Given the description of an element on the screen output the (x, y) to click on. 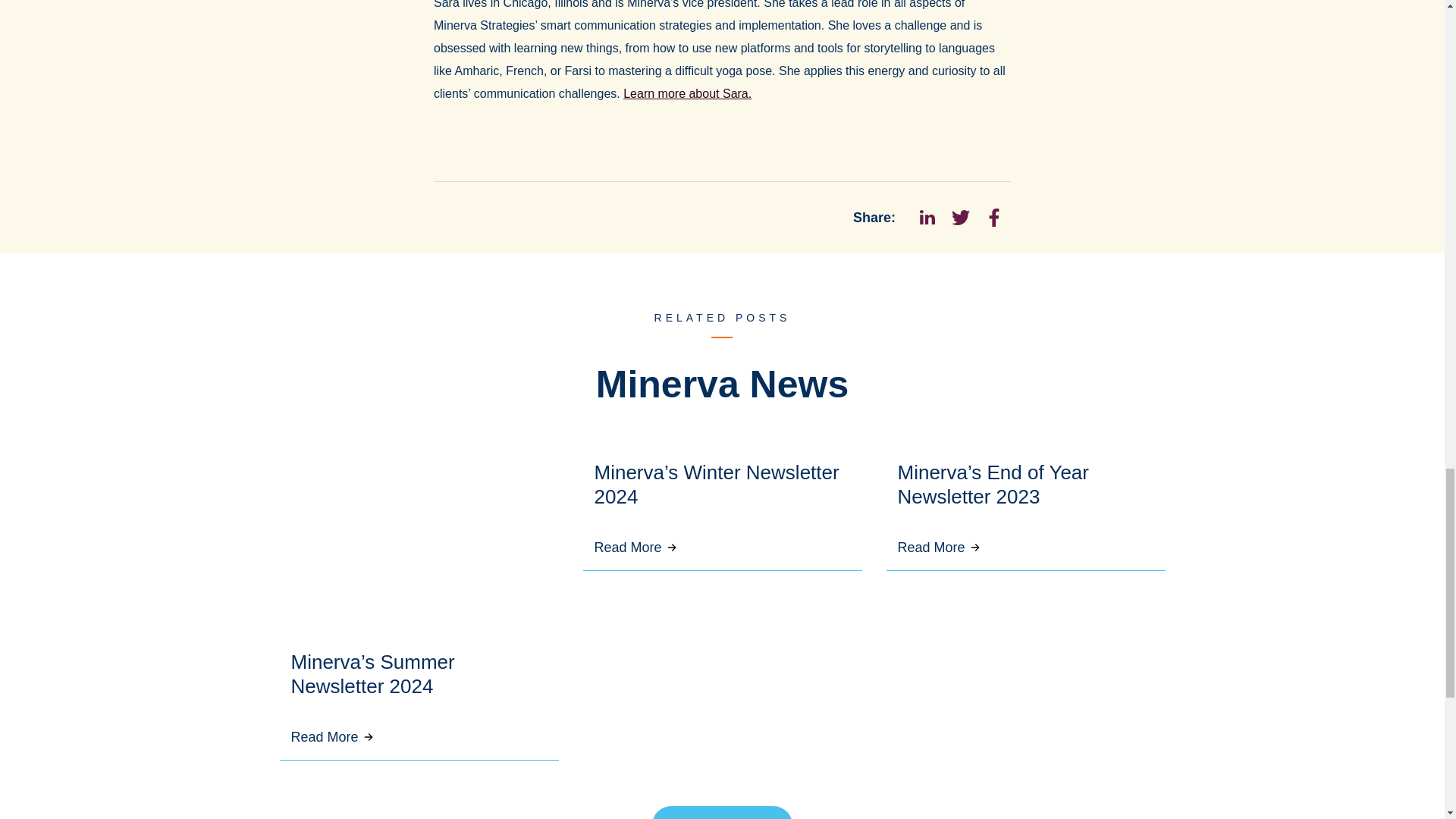
LinkedIn (927, 217)
Tweet (959, 217)
Facebook (993, 217)
Share on LinkedIn (927, 217)
Learn more about Sara. (687, 92)
See More Posts (722, 812)
Share on Twitter (959, 217)
Share on Facebook (993, 217)
